Given the description of an element on the screen output the (x, y) to click on. 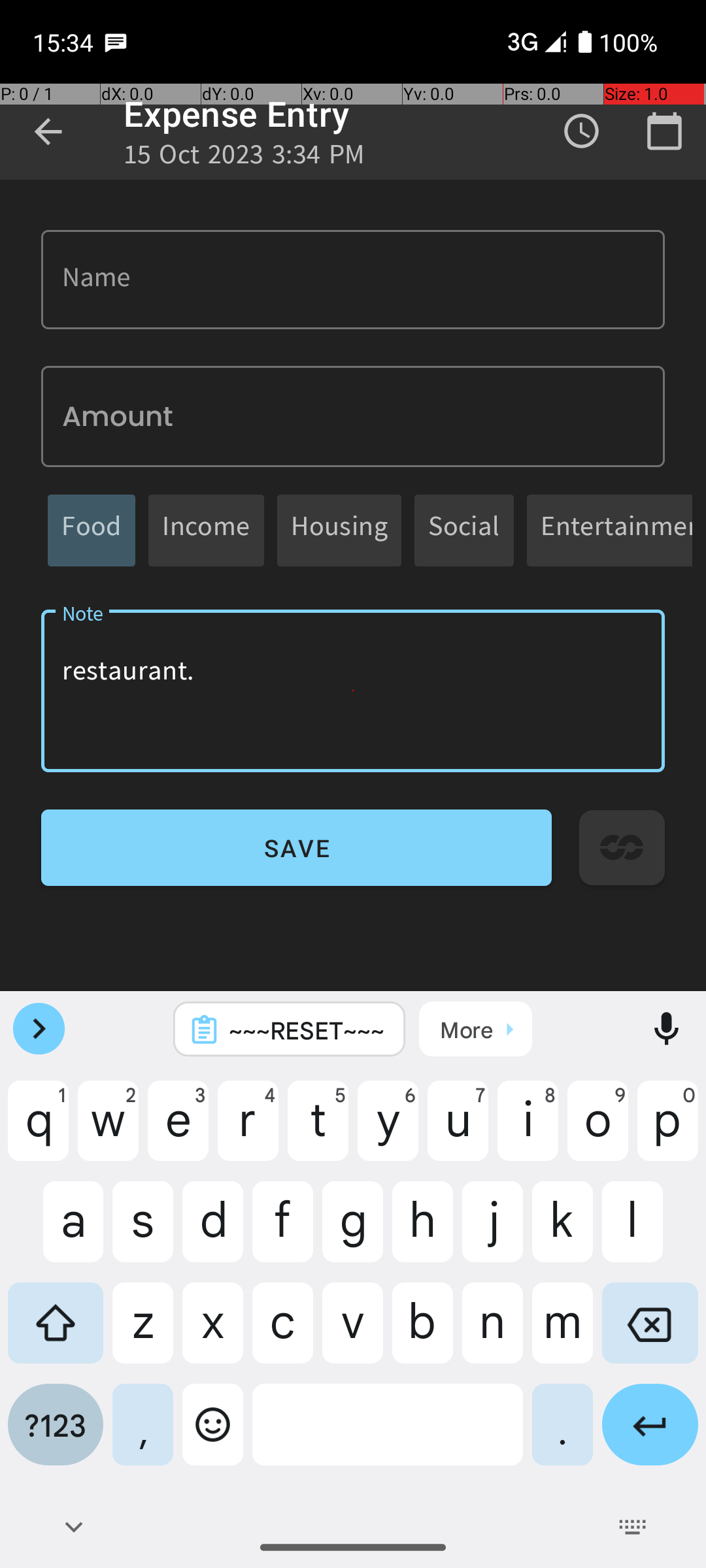
Expense Entry Element type: android.widget.TextView (236, 113)
15 Oct 2023 3:34 PM Element type: android.widget.TextView (244, 157)
Time Element type: android.widget.TextView (580, 131)
Calendar Element type: android.widget.TextView (664, 131)
Name Element type: android.widget.EditText (352, 279)
Amount Element type: android.widget.EditText (352, 416)
Dinner with friends at the new Italian restaurant.
 Element type: android.widget.EditText (352, 690)
SAVE Element type: android.widget.Button (296, 847)
Food Element type: android.widget.TextView (91, 530)
Income Element type: android.widget.TextView (206, 530)
Housing Element type: android.widget.TextView (338, 530)
Social Element type: android.widget.TextView (464, 530)
Entertainment Element type: android.widget.TextView (616, 530)
Open features menu Element type: android.widget.FrameLayout (39, 1028)
Voice input Element type: android.widget.FrameLayout (666, 1028)
q Element type: android.widget.FrameLayout (38, 1130)
w Element type: android.widget.FrameLayout (108, 1130)
e Element type: android.widget.FrameLayout (178, 1130)
r Element type: android.widget.FrameLayout (248, 1130)
t Element type: android.widget.FrameLayout (318, 1130)
y Element type: android.widget.FrameLayout (387, 1130)
u Element type: android.widget.FrameLayout (457, 1130)
i Element type: android.widget.FrameLayout (527, 1130)
o Element type: android.widget.FrameLayout (597, 1130)
p Element type: android.widget.FrameLayout (667, 1130)
a Element type: android.widget.FrameLayout (55, 1231)
s Element type: android.widget.FrameLayout (142, 1231)
d Element type: android.widget.FrameLayout (212, 1231)
f Element type: android.widget.FrameLayout (282, 1231)
g Element type: android.widget.FrameLayout (352, 1231)
h Element type: android.widget.FrameLayout (422, 1231)
j Element type: android.widget.FrameLayout (492, 1231)
k Element type: android.widget.FrameLayout (562, 1231)
l Element type: android.widget.FrameLayout (649, 1231)
z Element type: android.widget.FrameLayout (142, 1332)
x Element type: android.widget.FrameLayout (212, 1332)
c Element type: android.widget.FrameLayout (282, 1332)
v Element type: android.widget.FrameLayout (352, 1332)
b Element type: android.widget.FrameLayout (422, 1332)
n Element type: android.widget.FrameLayout (492, 1332)
m Element type: android.widget.FrameLayout (562, 1332)
Emoji button Element type: android.widget.FrameLayout (212, 1434)
Enter Element type: android.widget.FrameLayout (649, 1434)
Click to open Clipboard Element type: android.view.ViewGroup (475, 1028)
~~~RESET~~~ Element type: android.widget.TextView (306, 1029)
SMS Messenger notification: Matteo Ibrahim Element type: android.widget.ImageView (115, 41)
